Given the description of an element on the screen output the (x, y) to click on. 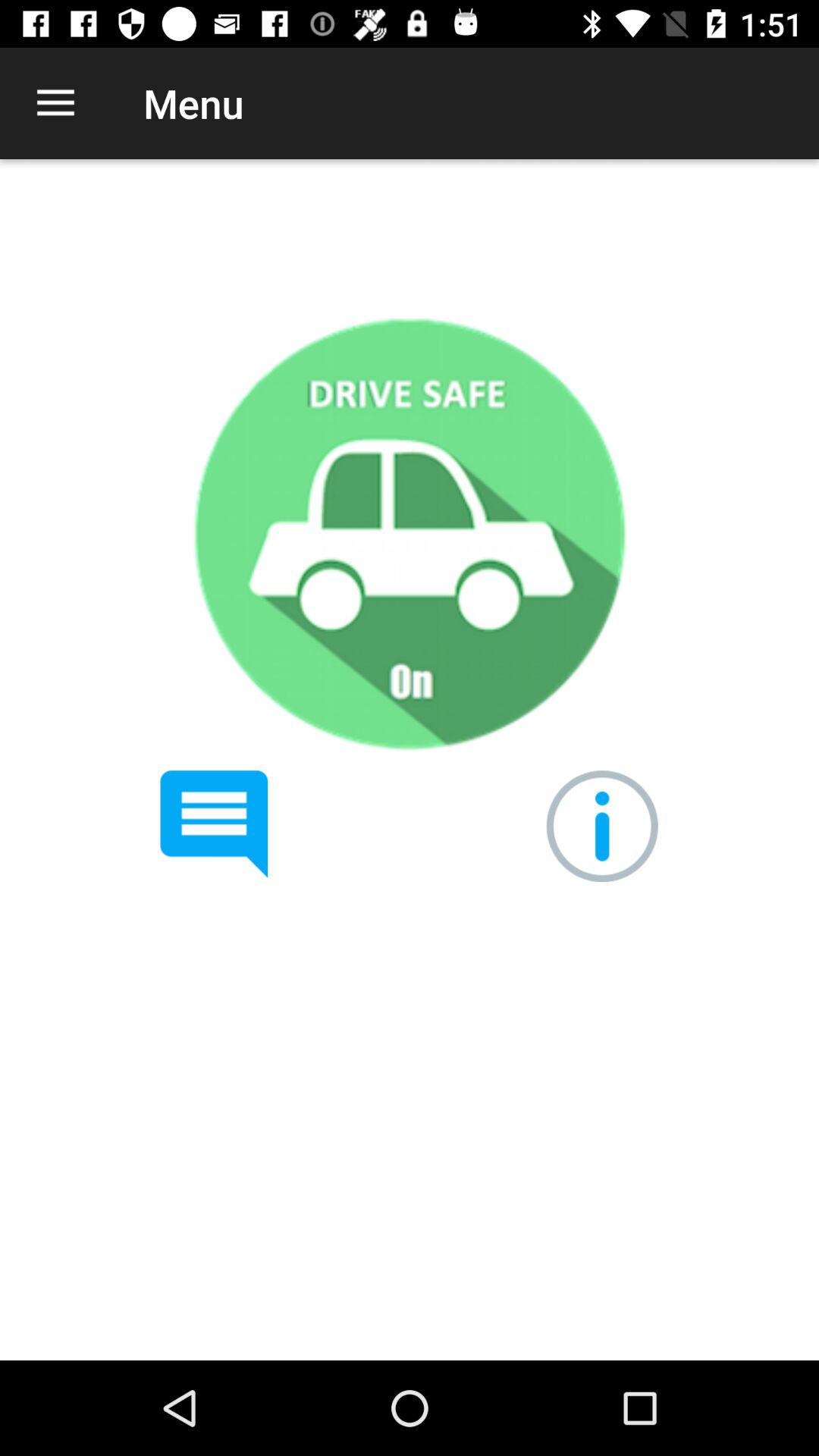
info button (602, 826)
